Given the description of an element on the screen output the (x, y) to click on. 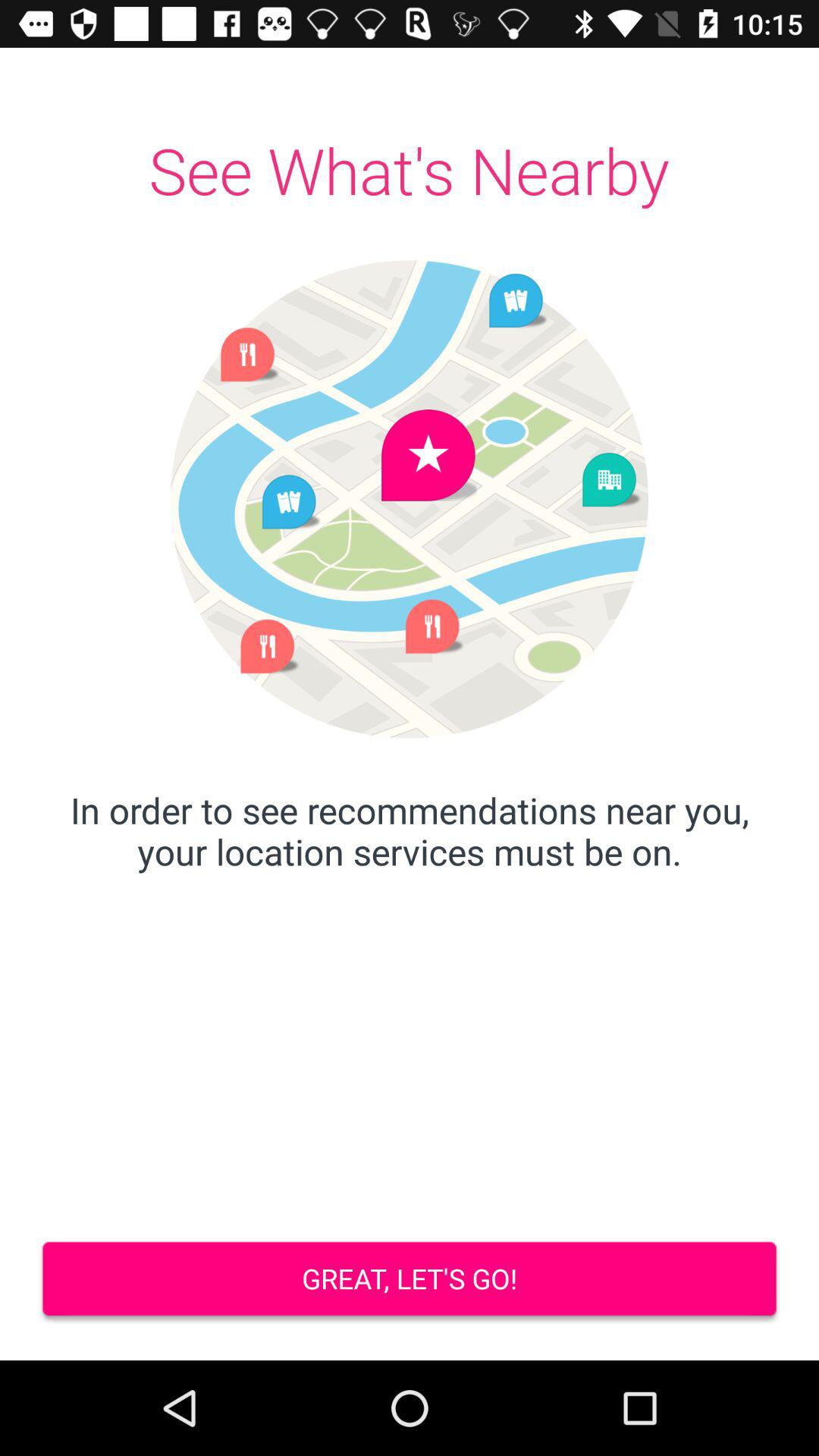
select the great let s (409, 1280)
